Given the description of an element on the screen output the (x, y) to click on. 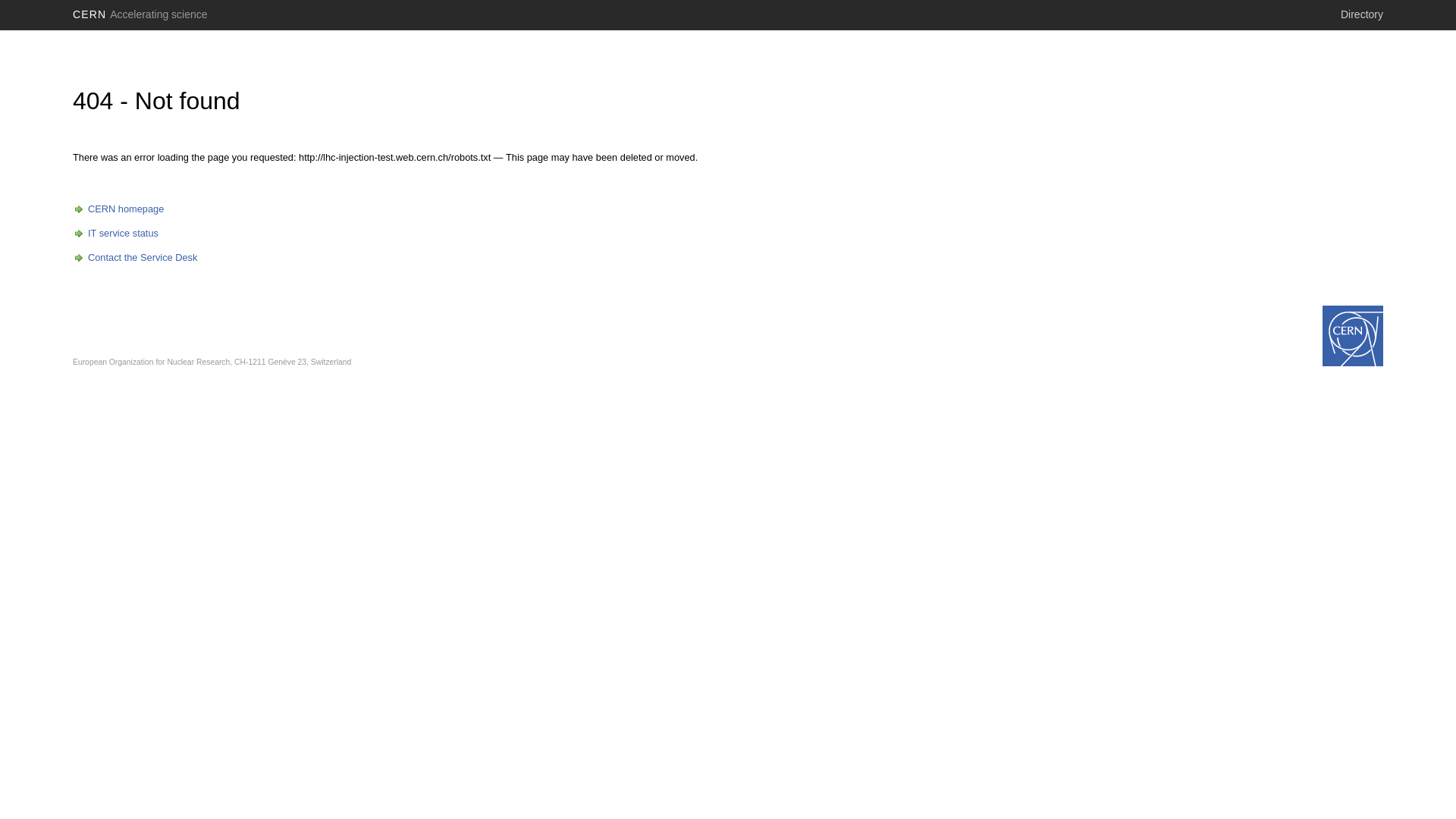
Contact the Service Desk Element type: text (134, 257)
CERN homepage Element type: text (117, 208)
CERN Accelerating science Element type: text (139, 14)
Directory Element type: text (1361, 14)
home.cern Element type: hover (1352, 335)
IT service status Element type: text (115, 232)
